Given the description of an element on the screen output the (x, y) to click on. 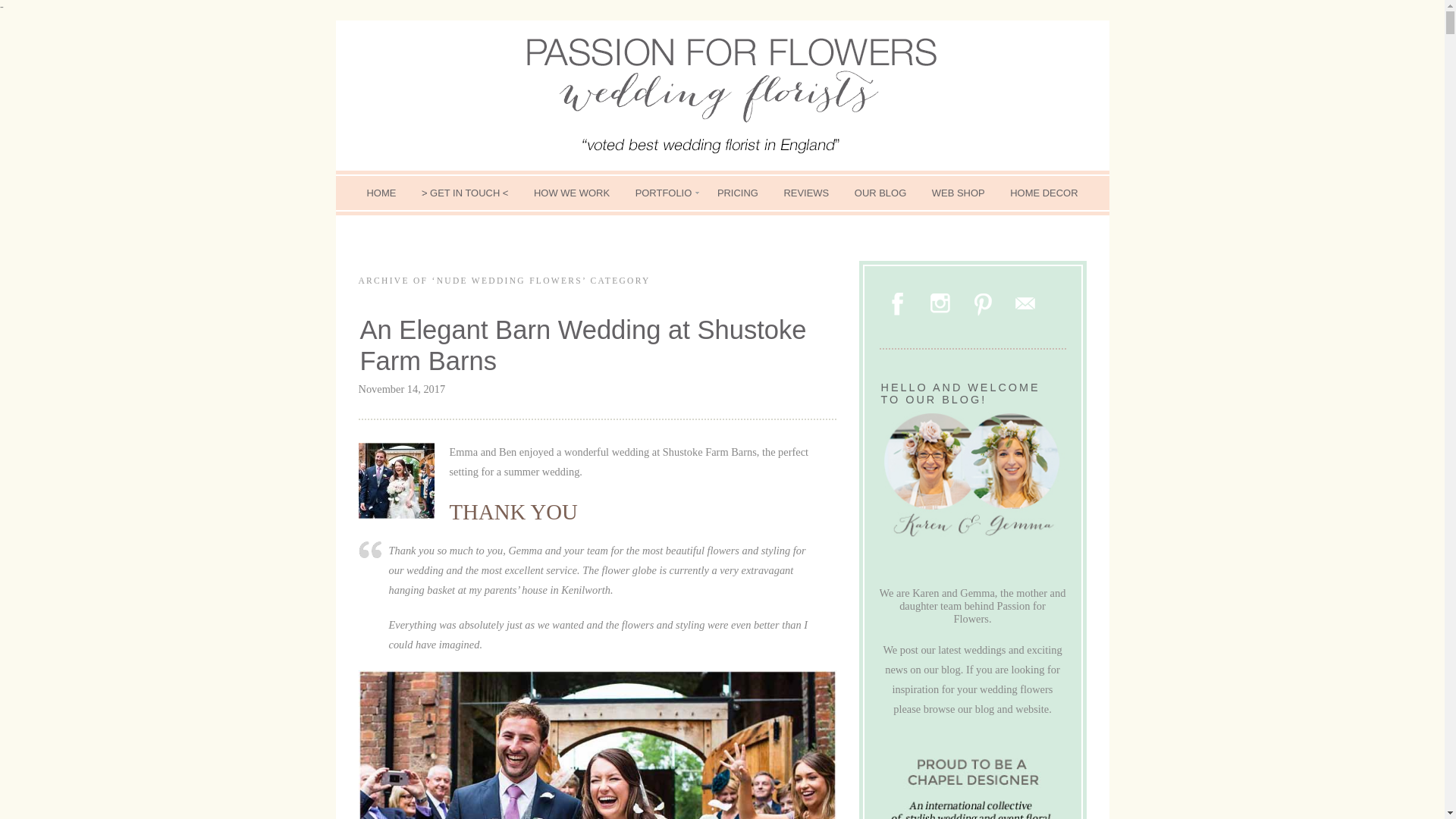
PORTFOLIO (663, 192)
WEB SHOP (957, 192)
HOME DECOR (1043, 192)
An Elegant Barn Wedding at Shustoke Farm Barns (582, 345)
HOME (381, 192)
HOW WE WORK (571, 192)
PRICING (738, 192)
OUR BLOG (880, 192)
REVIEWS (805, 192)
Passion for Flowers (722, 95)
